Given the description of an element on the screen output the (x, y) to click on. 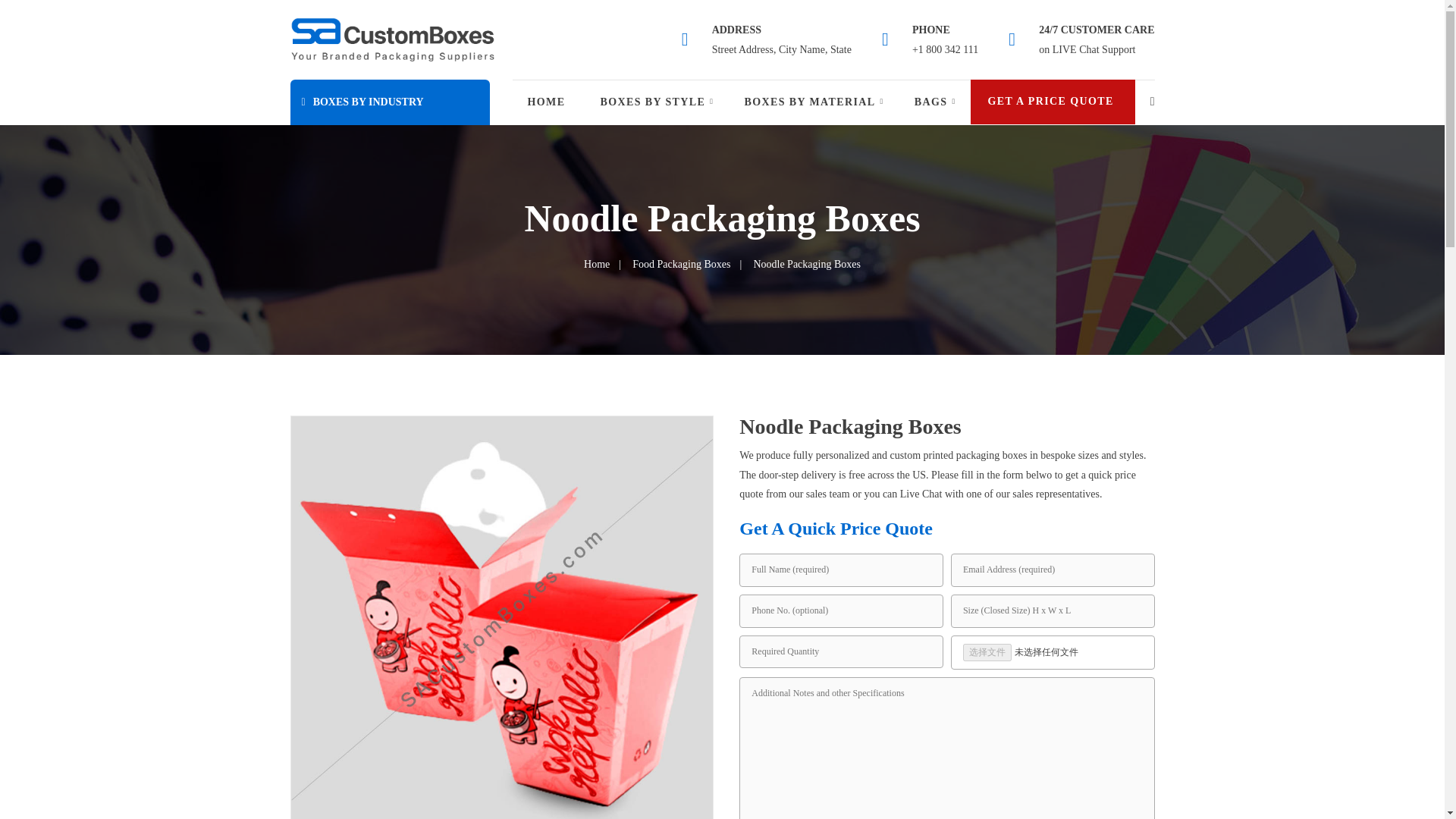
SA Custom Boxes - Custom Printed Packaging Boxes And Bags (392, 39)
BOXES BY STYLE (657, 102)
HOME (548, 102)
BOXES BY INDUSTRY (389, 102)
